Given the description of an element on the screen output the (x, y) to click on. 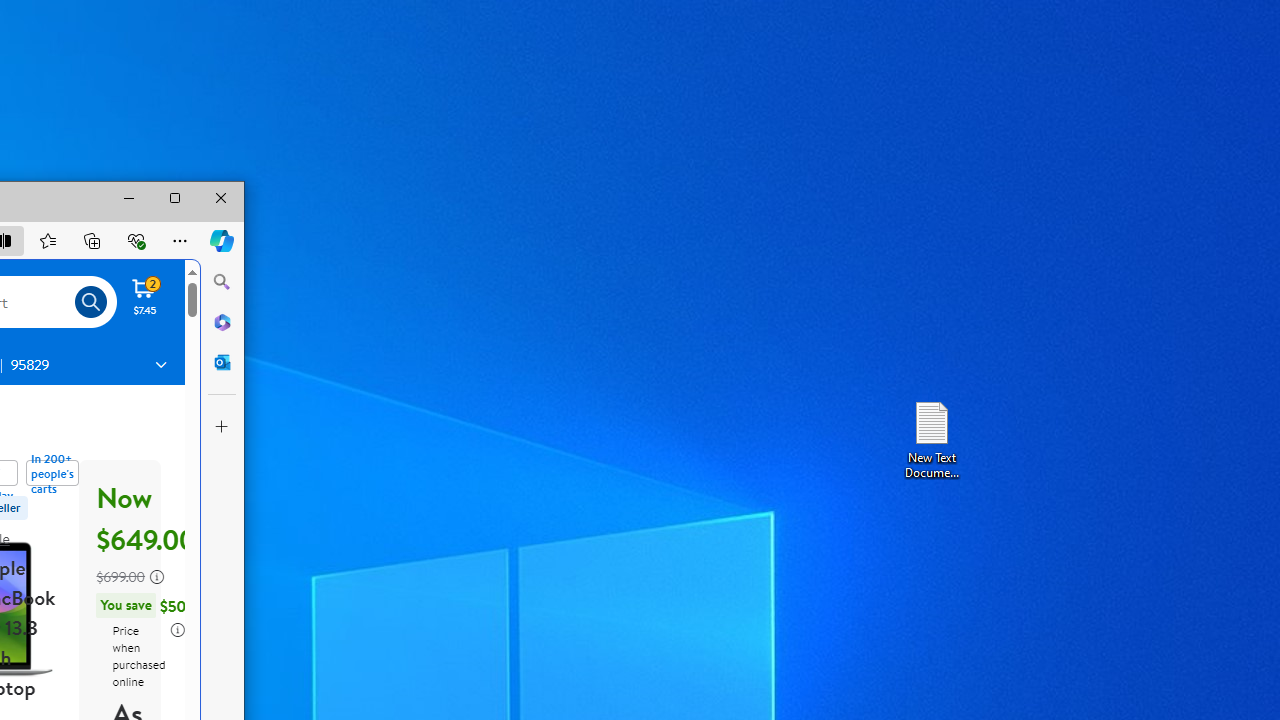
Close Search pane (221, 282)
legal information (176, 629)
learn more about strikethrough prices (157, 576)
Maximize (175, 198)
